Given the description of an element on the screen output the (x, y) to click on. 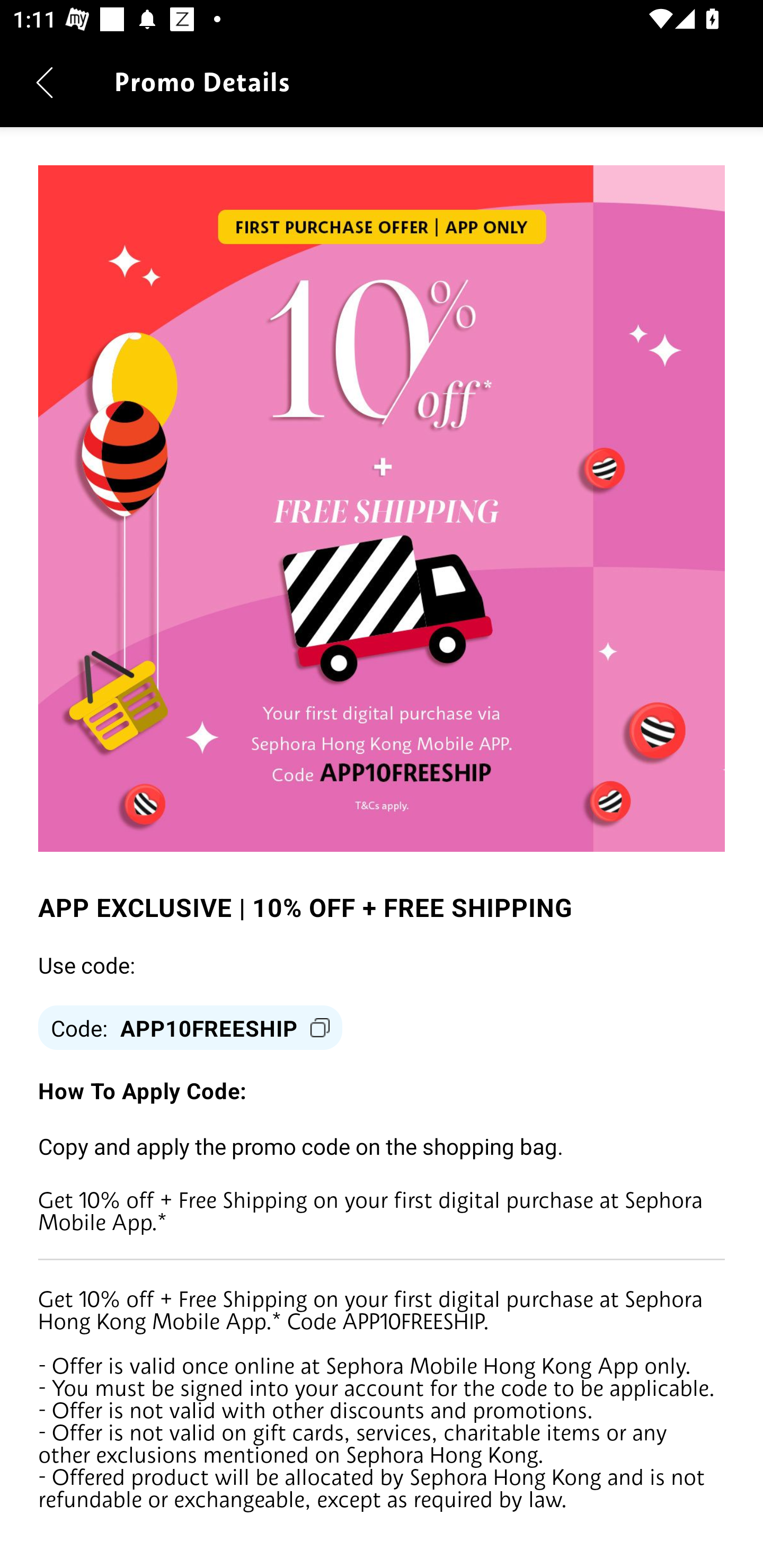
Navigate up (44, 82)
